Given the description of an element on the screen output the (x, y) to click on. 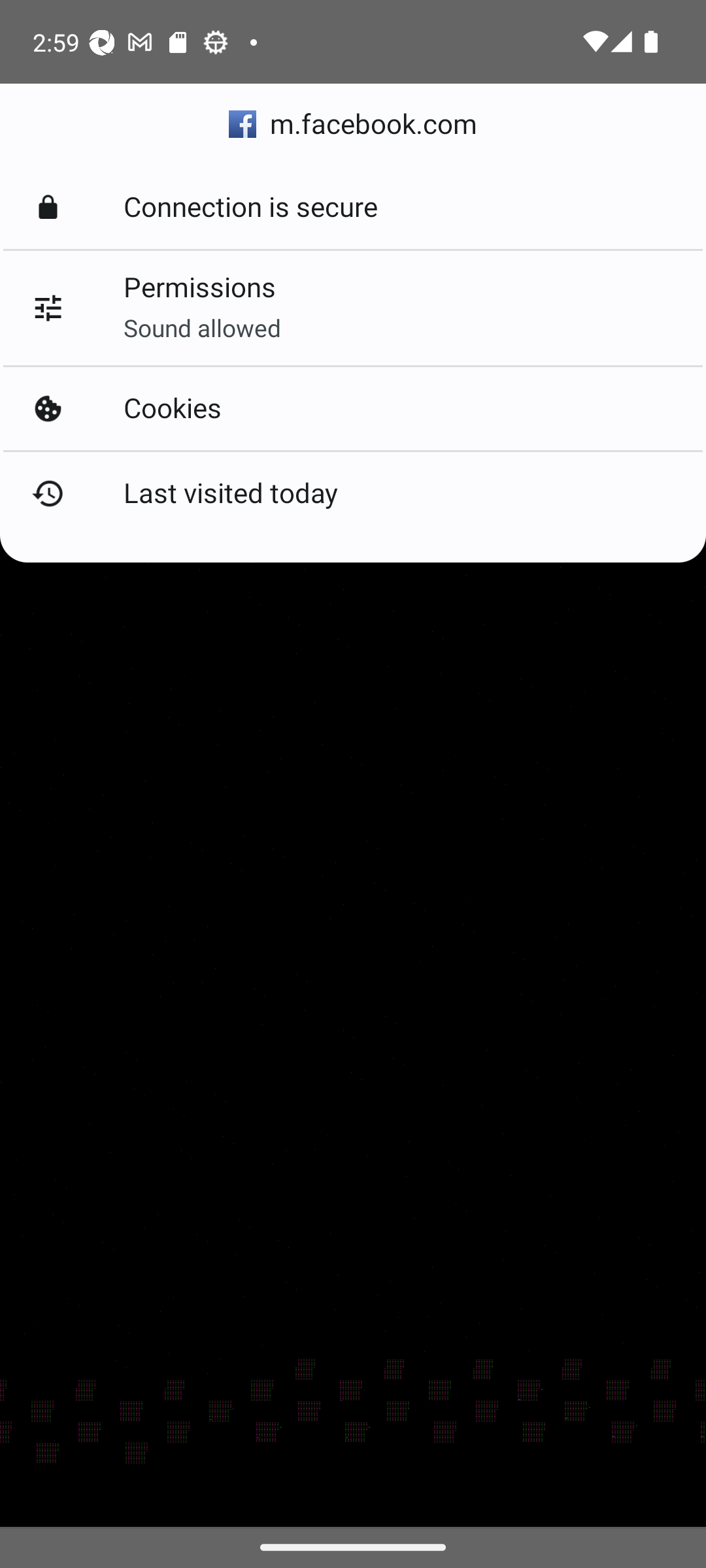
m.facebook.com (353, 124)
Connection is secure (353, 207)
Permissions Sound allowed (353, 307)
Cookies (353, 408)
Last visited today (353, 492)
